Given the description of an element on the screen output the (x, y) to click on. 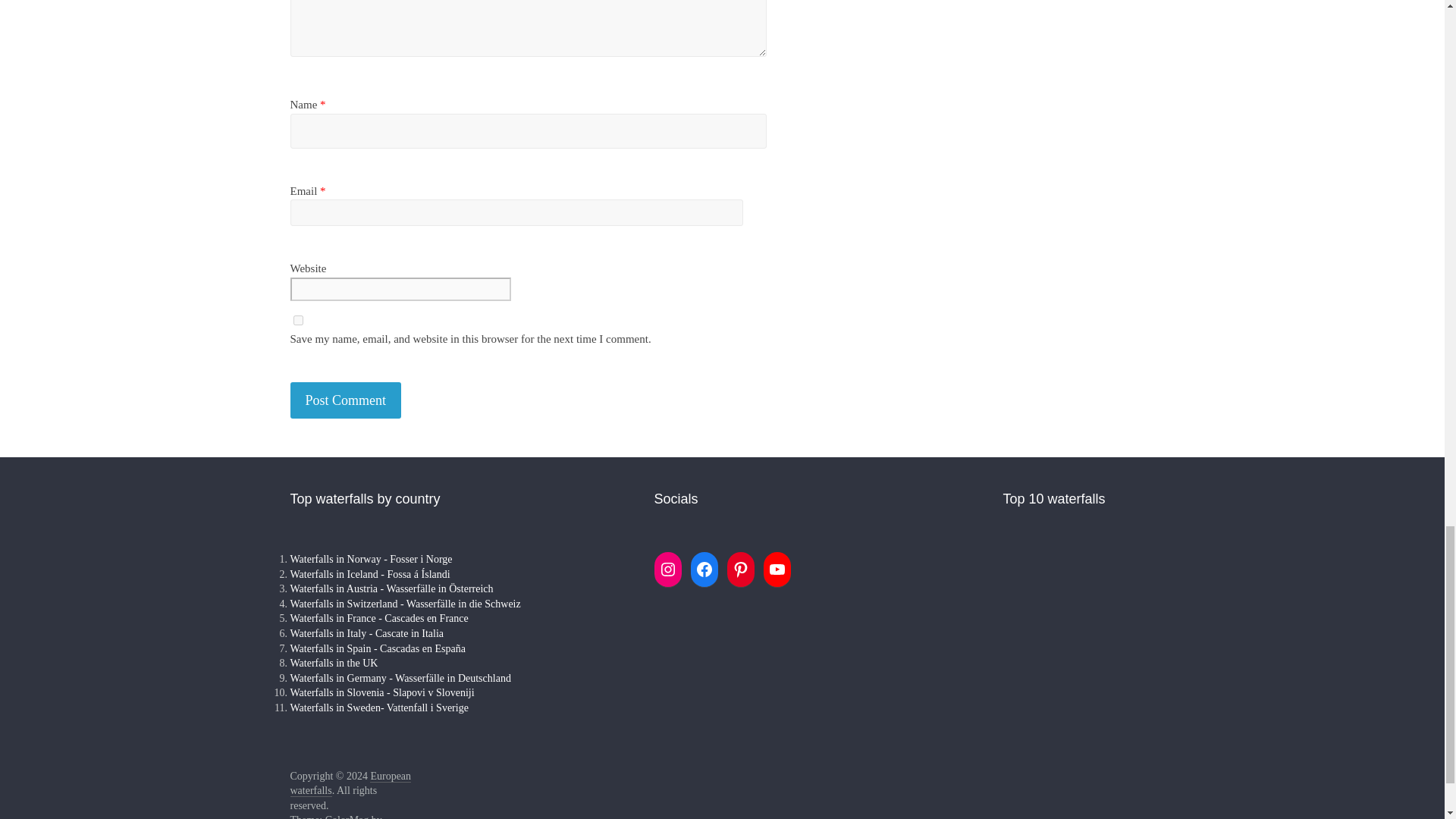
Post Comment (345, 400)
ColorMag (346, 816)
yes (297, 320)
European waterfalls (349, 783)
